Given the description of an element on the screen output the (x, y) to click on. 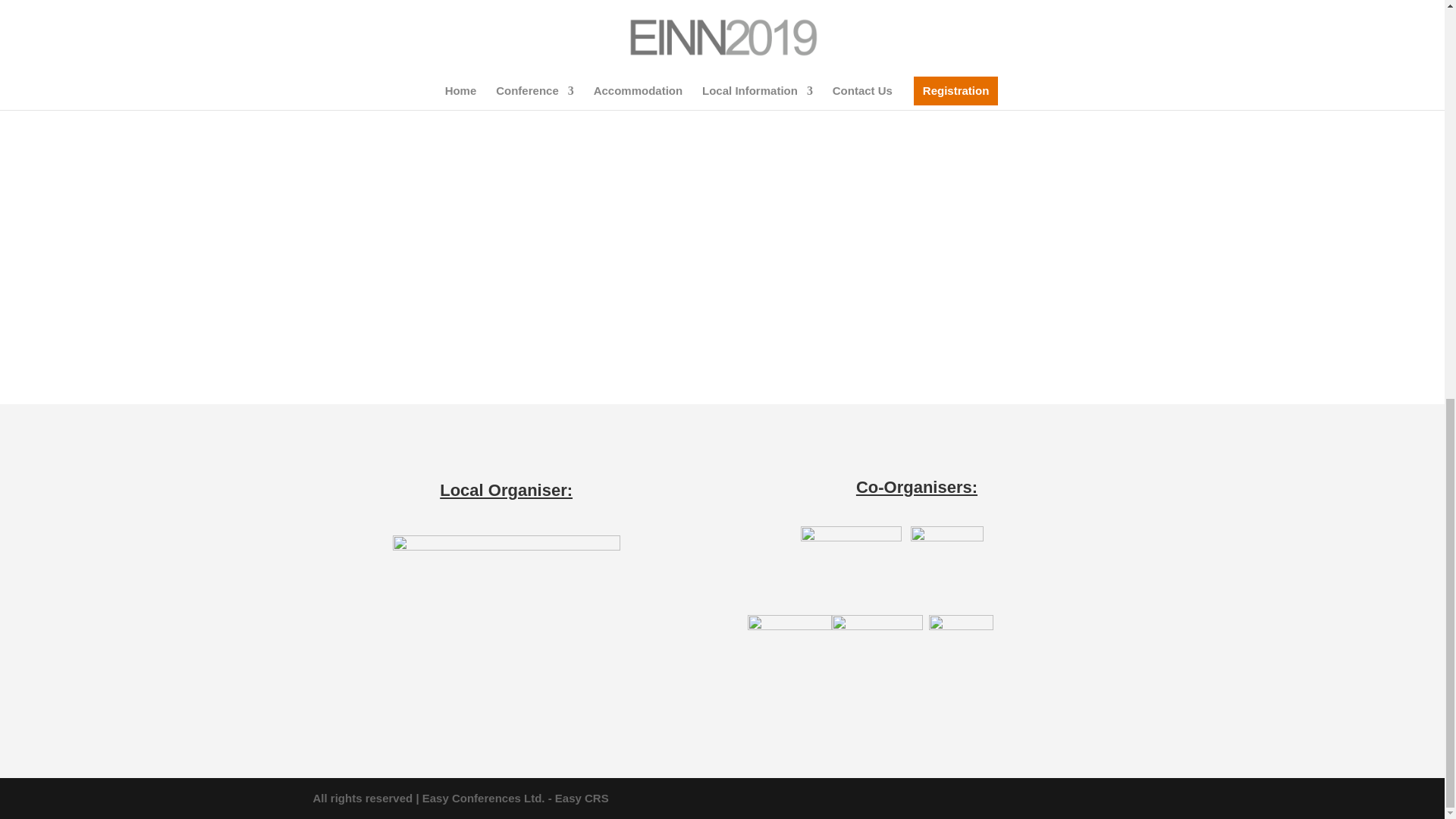
Easy Conferences Ltd. (483, 797)
Easy CRS (581, 797)
